Given the description of an element on the screen output the (x, y) to click on. 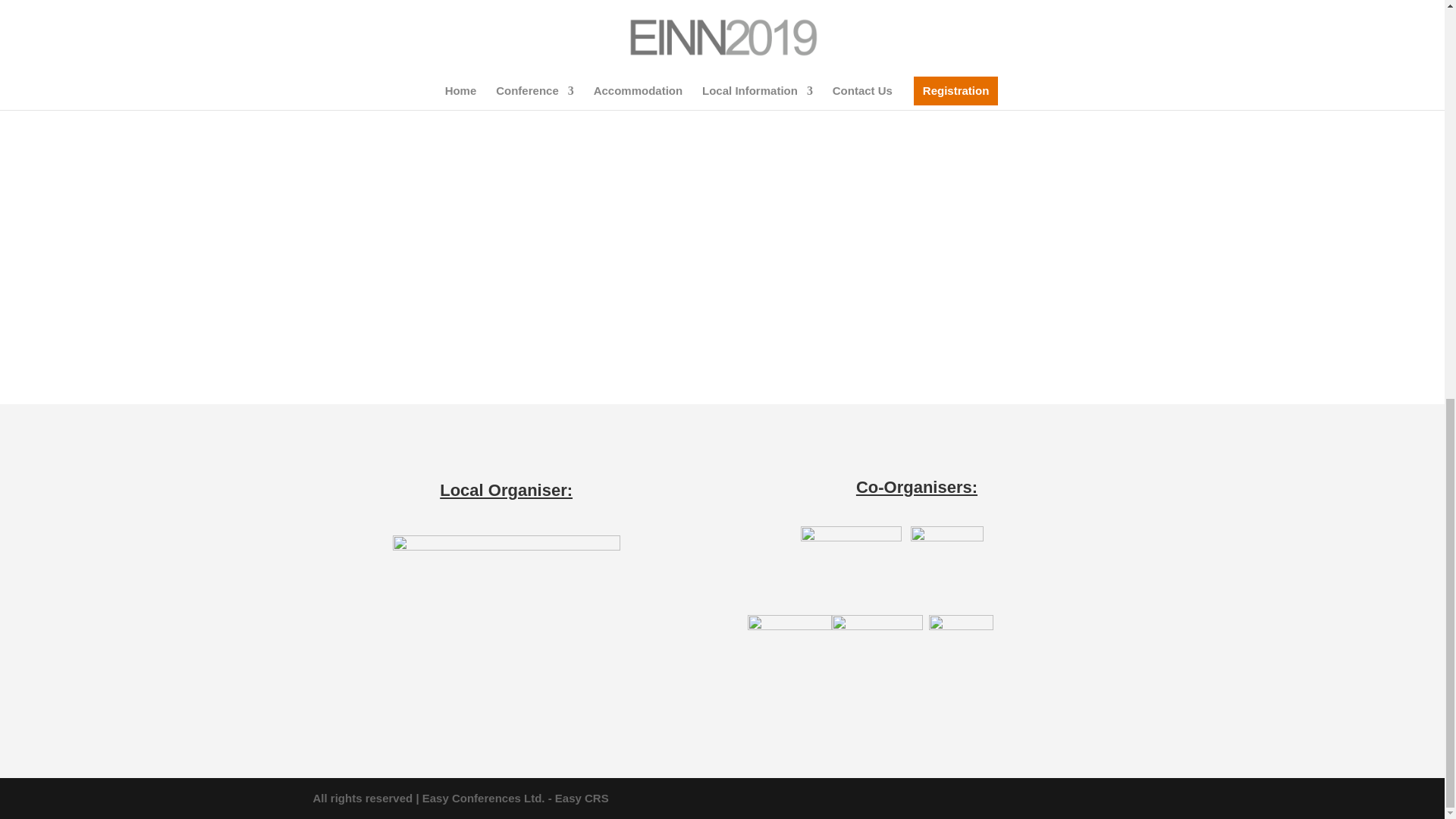
Easy Conferences Ltd. (483, 797)
Easy CRS (581, 797)
